Given the description of an element on the screen output the (x, y) to click on. 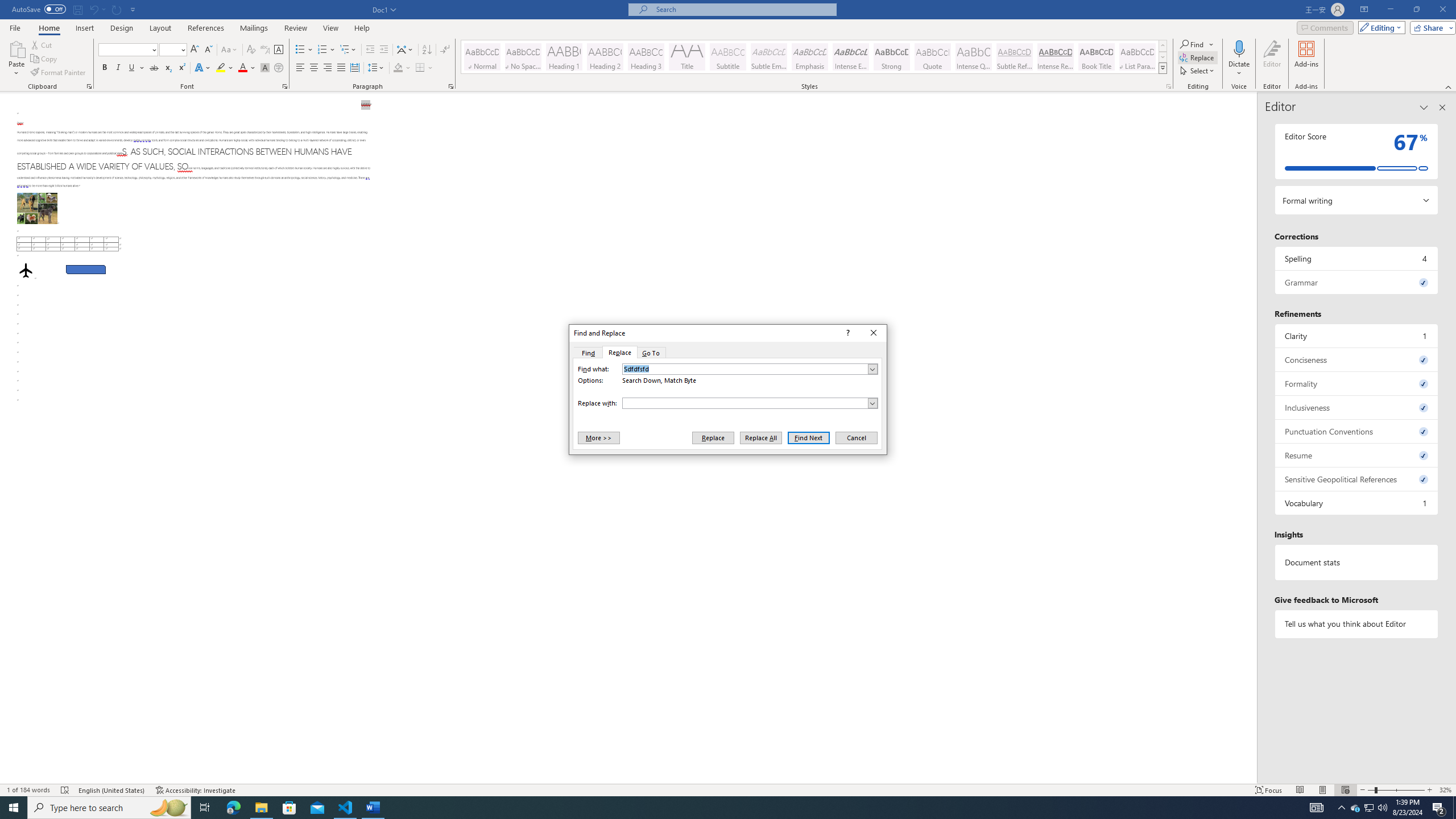
Book Title (1095, 56)
File Explorer - 1 running window (261, 807)
Clarity, 1 issue. Press space or enter to review items. (1356, 335)
